Given the description of an element on the screen output the (x, y) to click on. 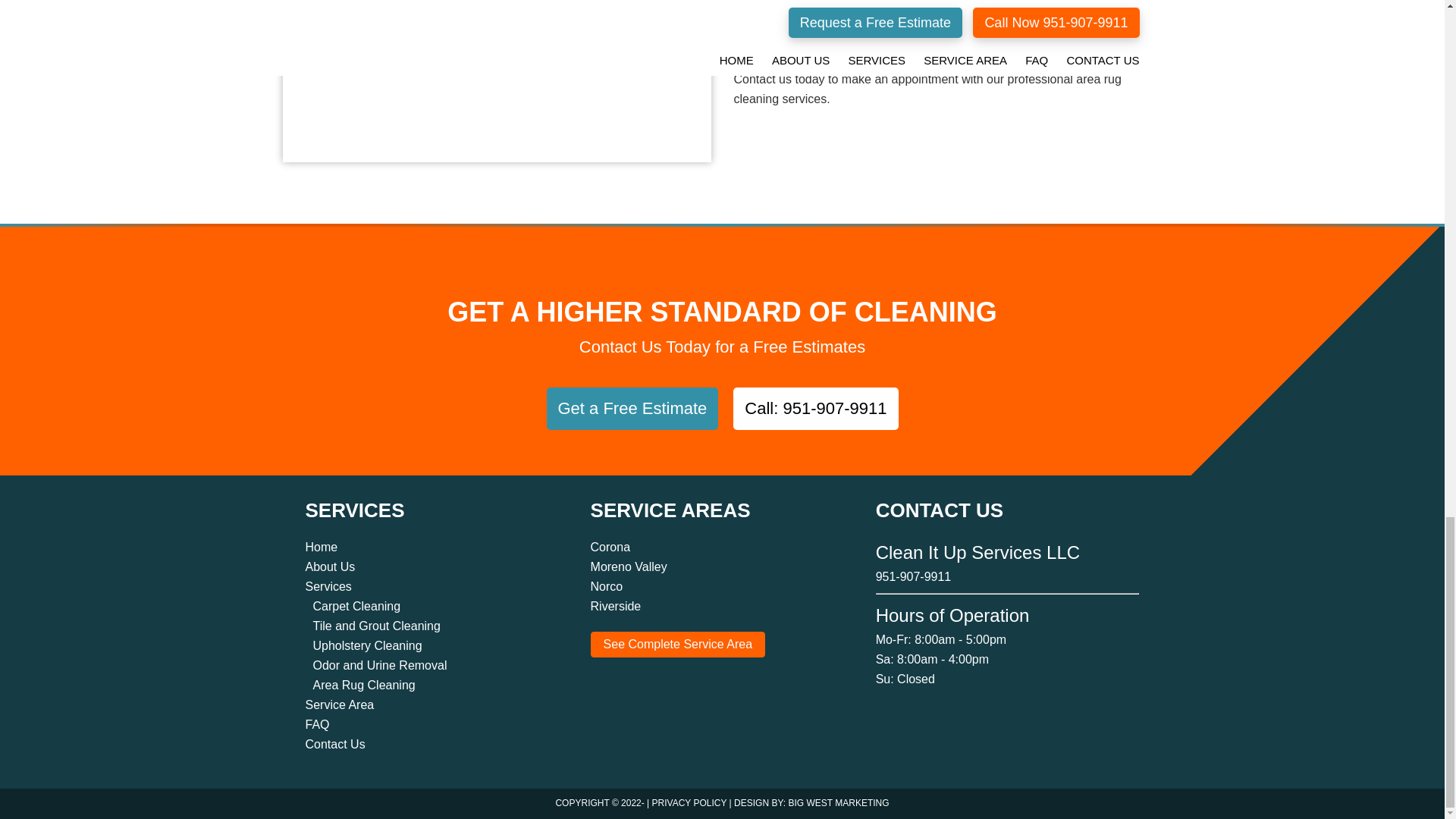
Call: 951-907-9911 (815, 408)
Get a Free Estimate (631, 408)
Tile and Grout Cleaning (376, 625)
Home (320, 546)
Service Area (339, 704)
Services (327, 585)
Area Rug Cleaning (363, 684)
About Us (329, 566)
Odor and Urine Removal (379, 665)
FAQ (316, 724)
Carpet Cleaning (356, 605)
Upholstery Cleaning (367, 645)
